Given the description of an element on the screen output the (x, y) to click on. 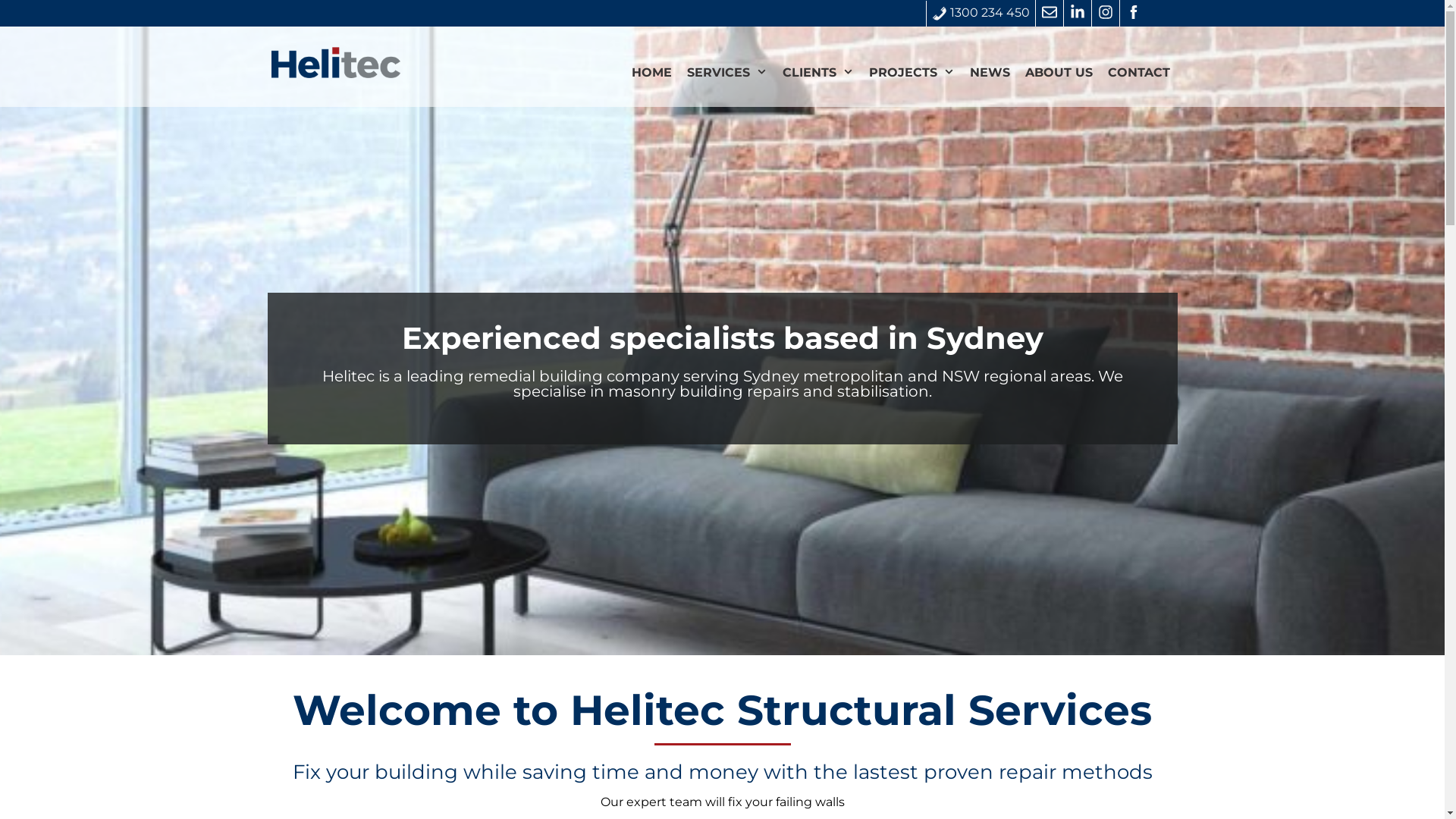
CONTACT Element type: text (1137, 72)
HOME Element type: text (651, 72)
1300 234 450 Element type: text (979, 12)
SERVICES Element type: text (727, 72)
CLIENTS Element type: text (818, 72)
PROJECTS Element type: text (911, 72)
NEWS Element type: text (988, 72)
ABOUT US Element type: text (1058, 72)
